Given the description of an element on the screen output the (x, y) to click on. 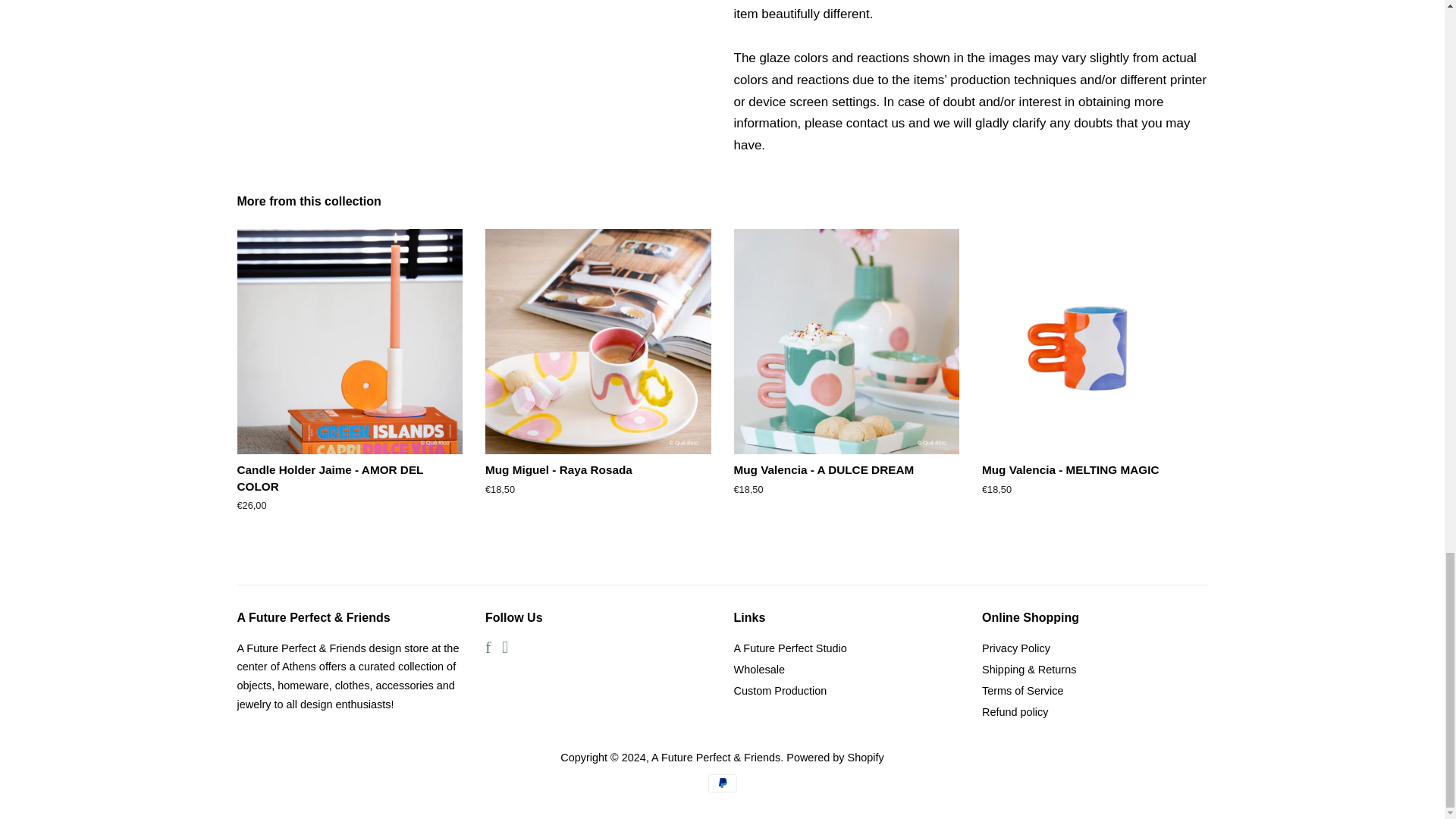
PayPal (721, 782)
